Given the description of an element on the screen output the (x, y) to click on. 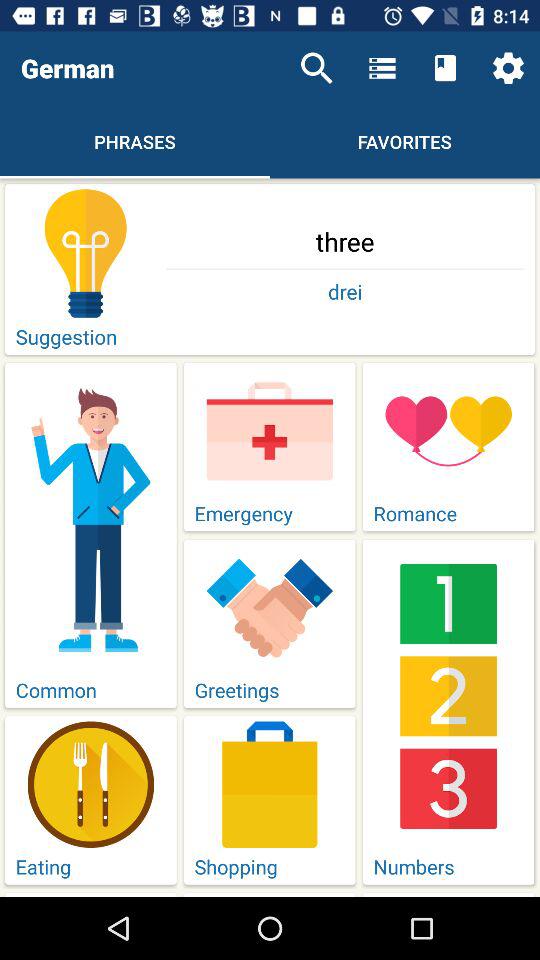
shopping icon from the buttom (269, 784)
click on the icon next to menu icon (445, 68)
take the image above numbers (448, 696)
select the text which is to the right side of the phrases (405, 141)
click on person image (90, 518)
select the romance button (448, 447)
